Given the description of an element on the screen output the (x, y) to click on. 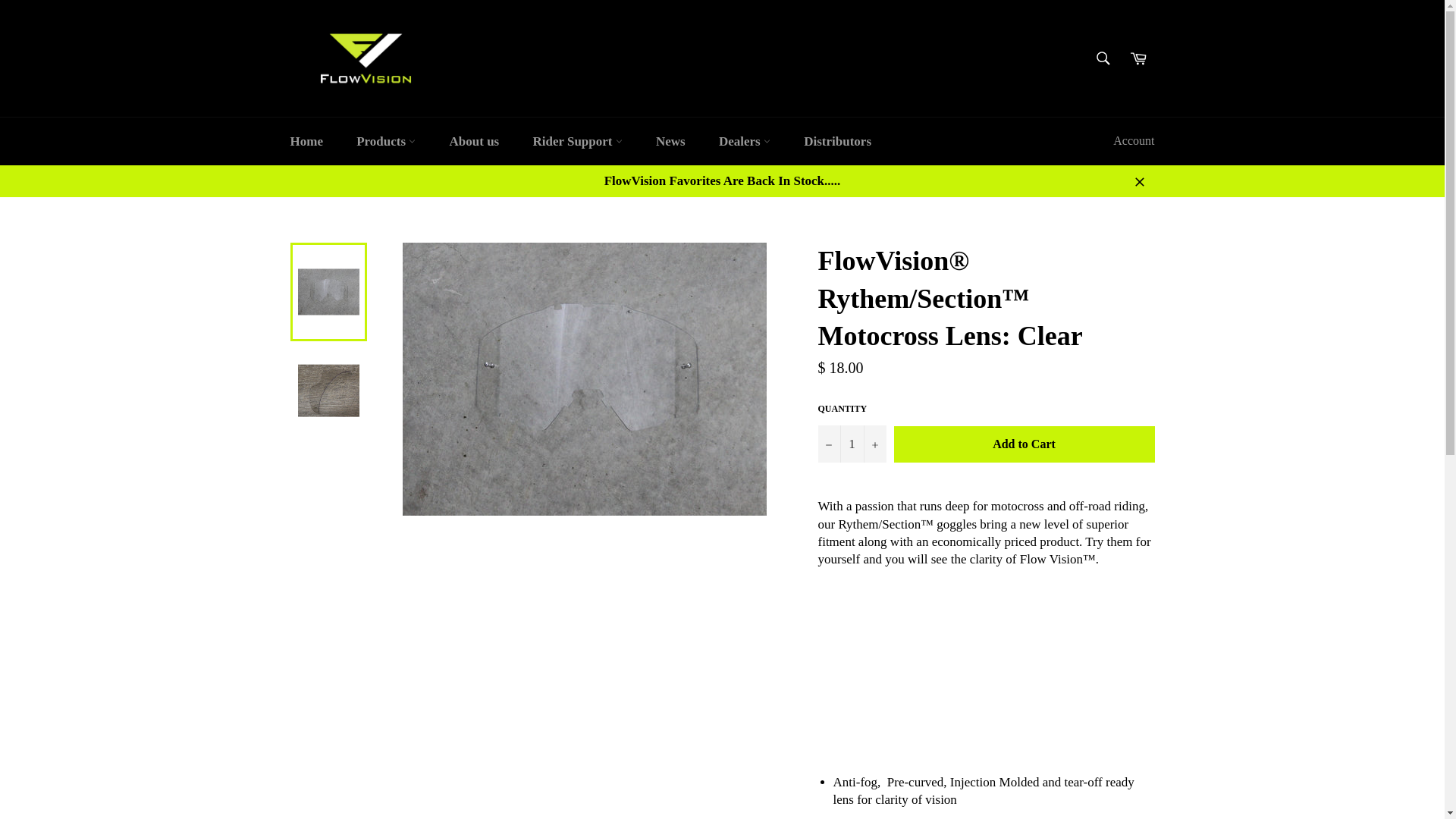
Home (306, 141)
Search (1103, 58)
Rider Support (576, 141)
About us (474, 141)
Cart (1138, 58)
1 (850, 443)
Products (385, 141)
